Given the description of an element on the screen output the (x, y) to click on. 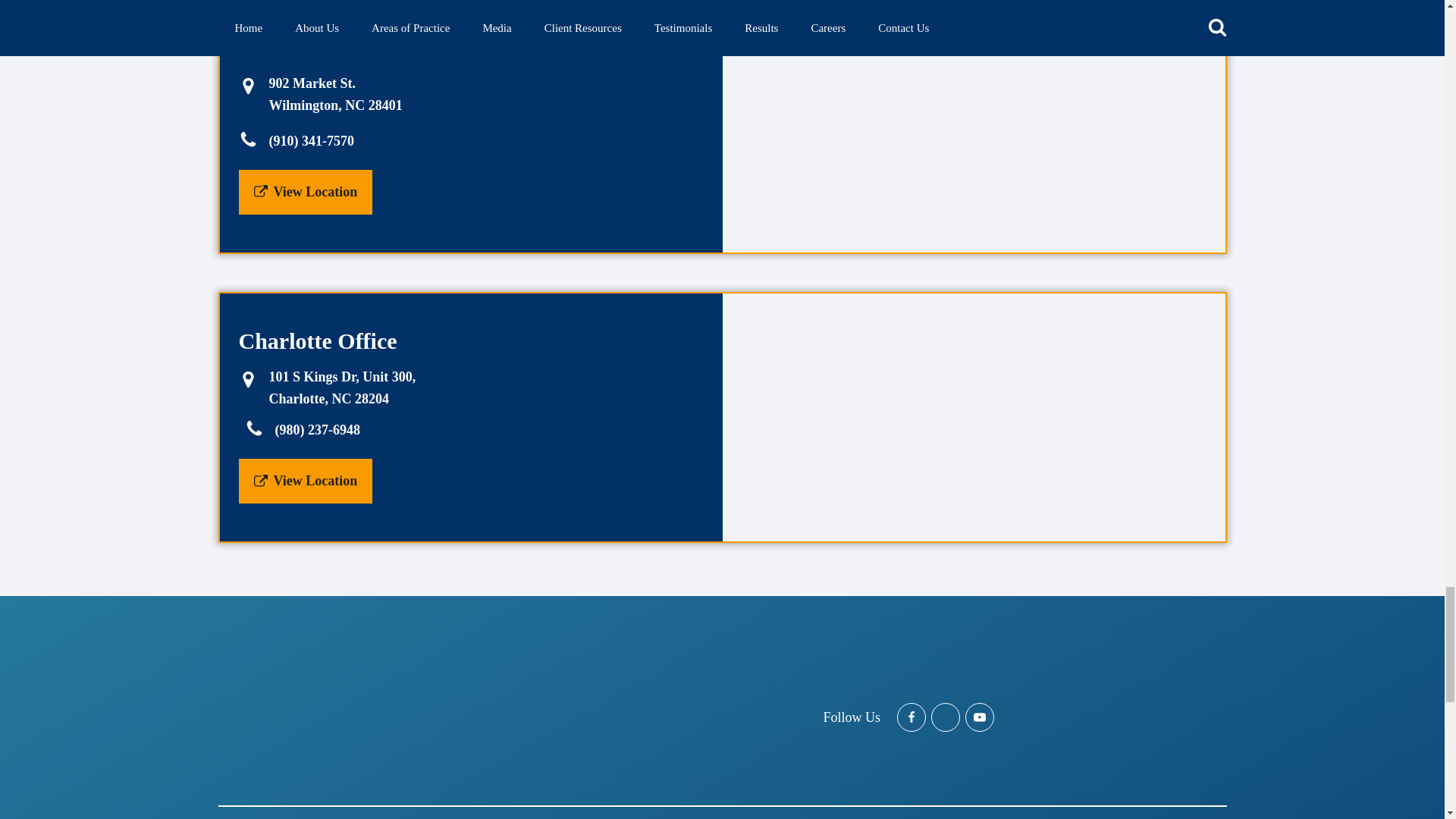
Charlotte Office (973, 417)
Phone (253, 428)
Wilmington Office (973, 125)
call (252, 139)
Wilmington Office (252, 80)
youtobe (979, 717)
facebook (911, 717)
Charlotte Office (252, 375)
map-marker (247, 379)
call (259, 428)
